Given the description of an element on the screen output the (x, y) to click on. 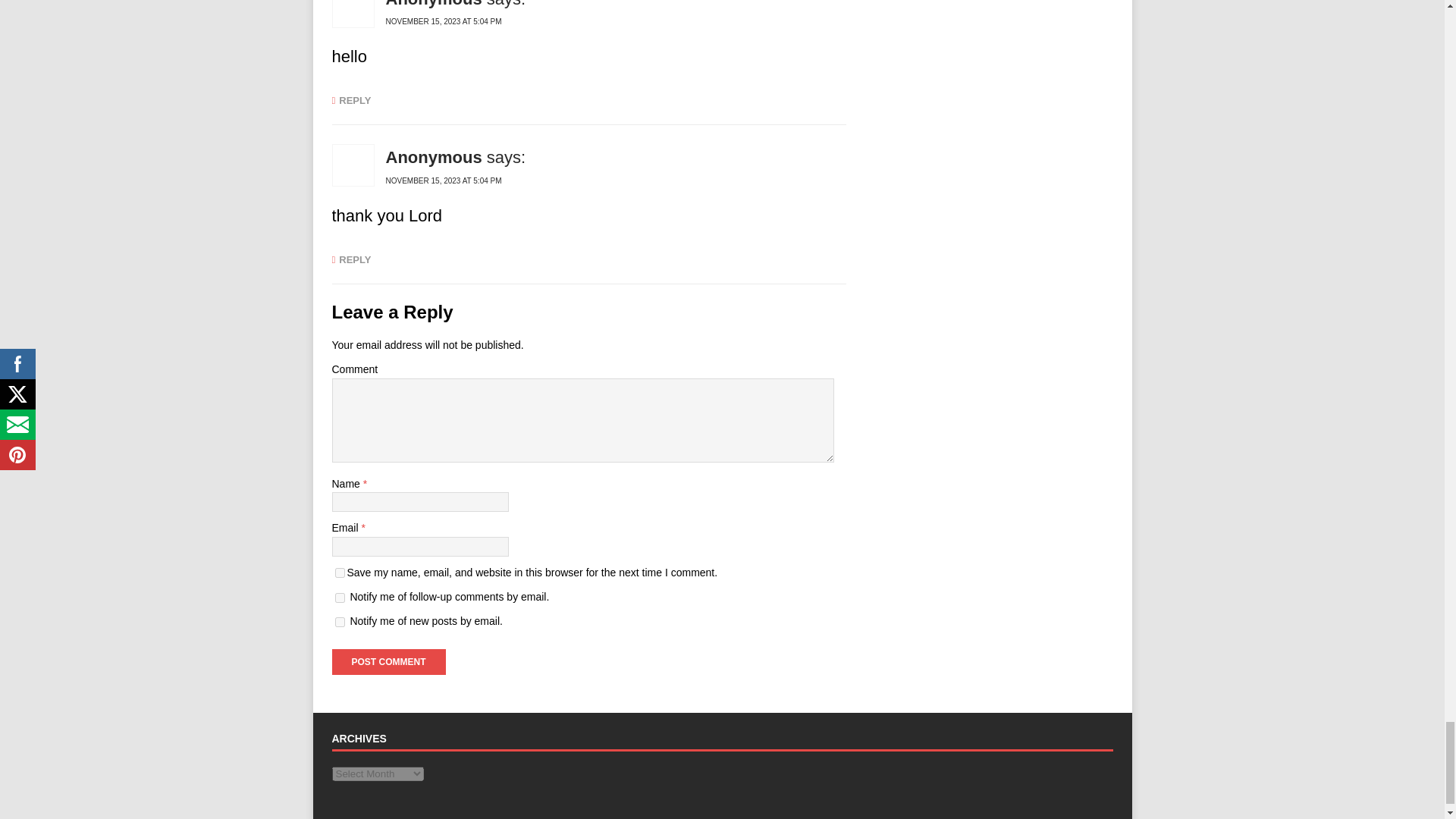
subscribe (339, 597)
yes (339, 573)
subscribe (339, 622)
Post Comment (388, 661)
